Given the description of an element on the screen output the (x, y) to click on. 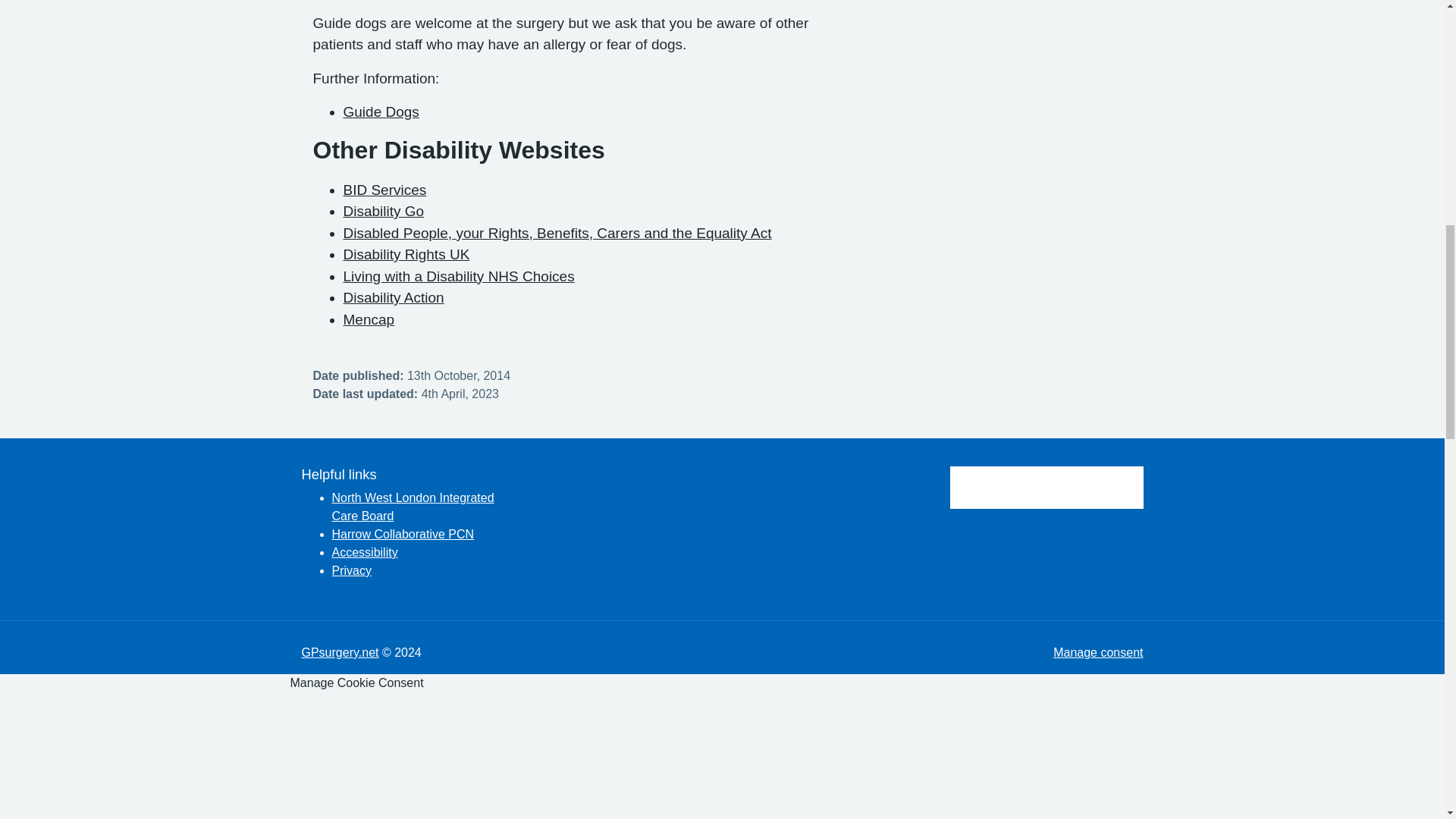
Disability Action (393, 297)
Harrow Collaborative PCN (402, 533)
GPsurgery.net (339, 652)
BID Services (384, 189)
Accessibility (364, 552)
Disability Go (382, 211)
Privacy (351, 570)
Guide Dogs (380, 111)
Disability Rights UK (405, 254)
